Given the description of an element on the screen output the (x, y) to click on. 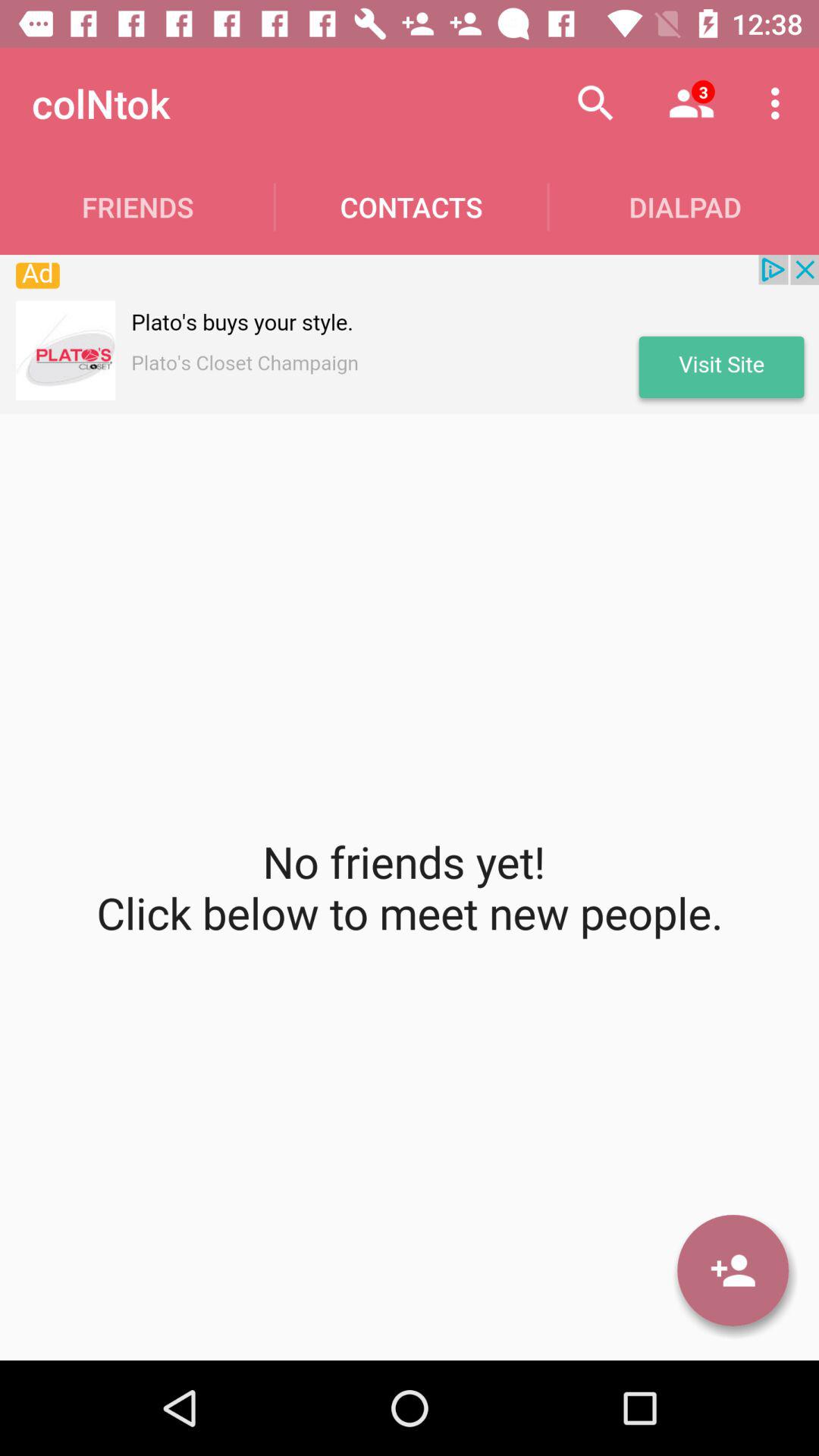
add user (733, 1270)
